Given the description of an element on the screen output the (x, y) to click on. 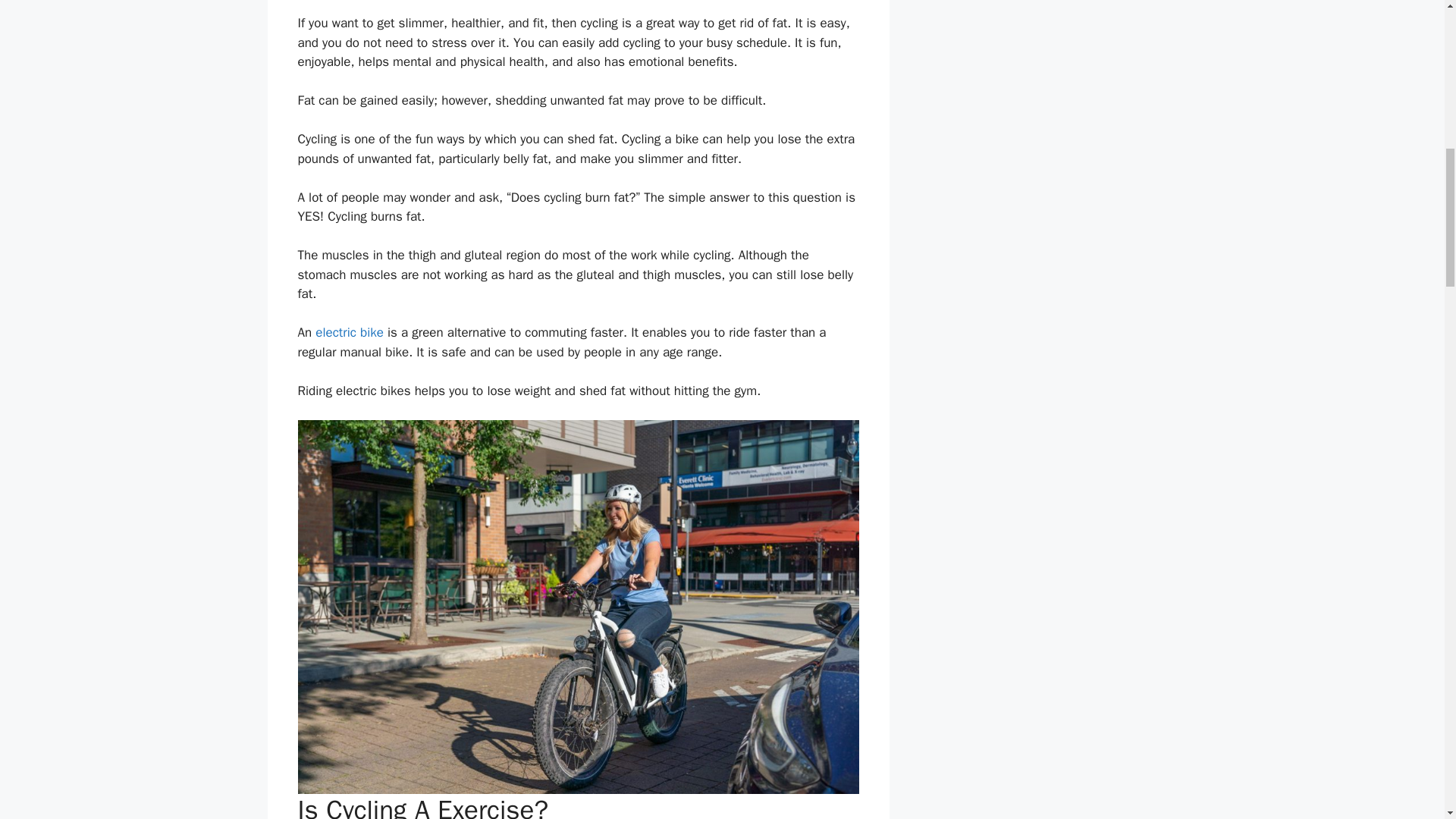
electric bike (349, 332)
